Given the description of an element on the screen output the (x, y) to click on. 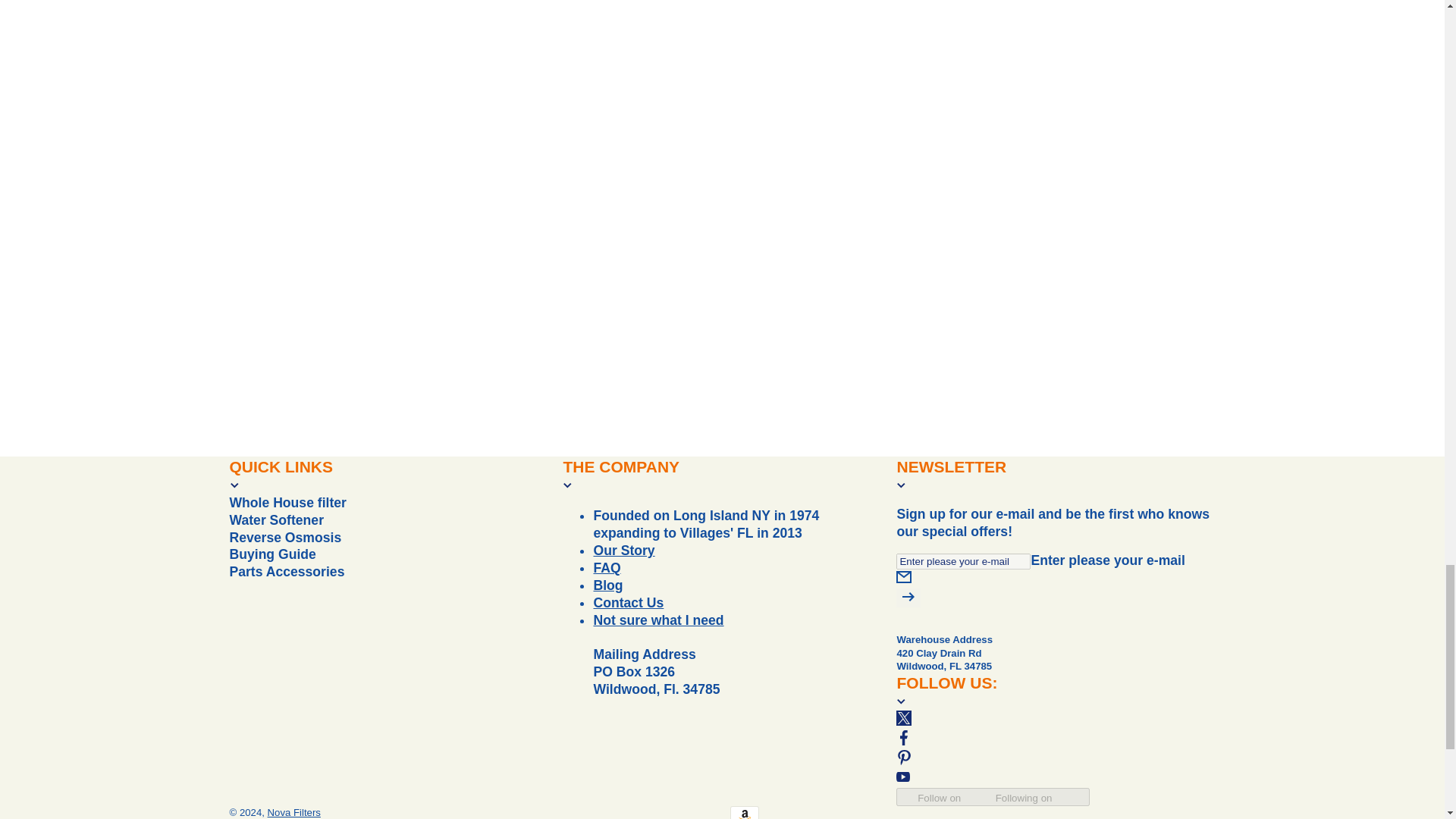
Contact Us (657, 620)
Blog (607, 585)
FAQ's (606, 567)
Amazon (743, 812)
Contact Us (627, 602)
Read Our Story (622, 549)
